Given the description of an element on the screen output the (x, y) to click on. 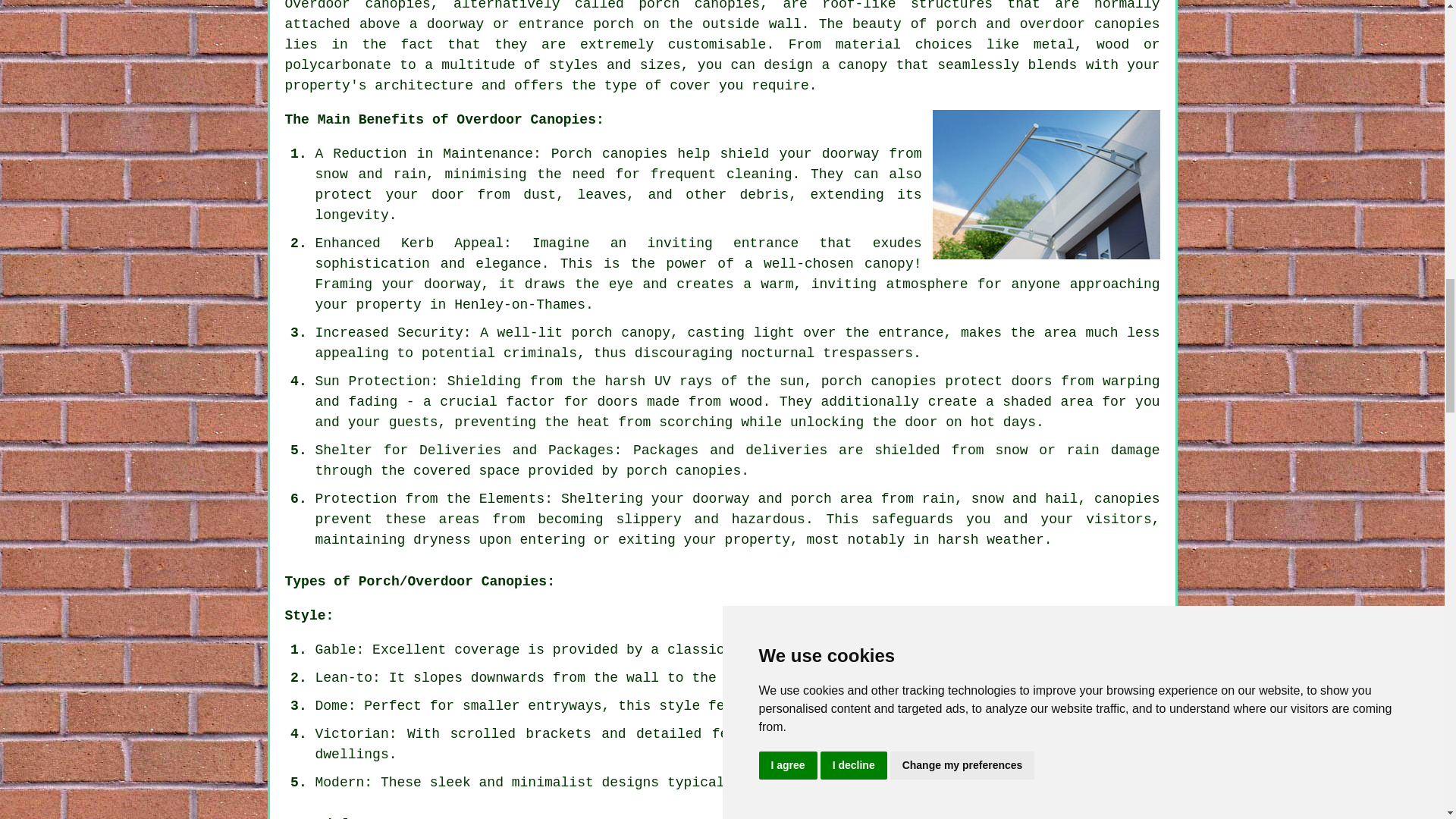
canopies (727, 5)
Overdoor Canopy Henley-on-Thames (1046, 816)
